Given the description of an element on the screen output the (x, y) to click on. 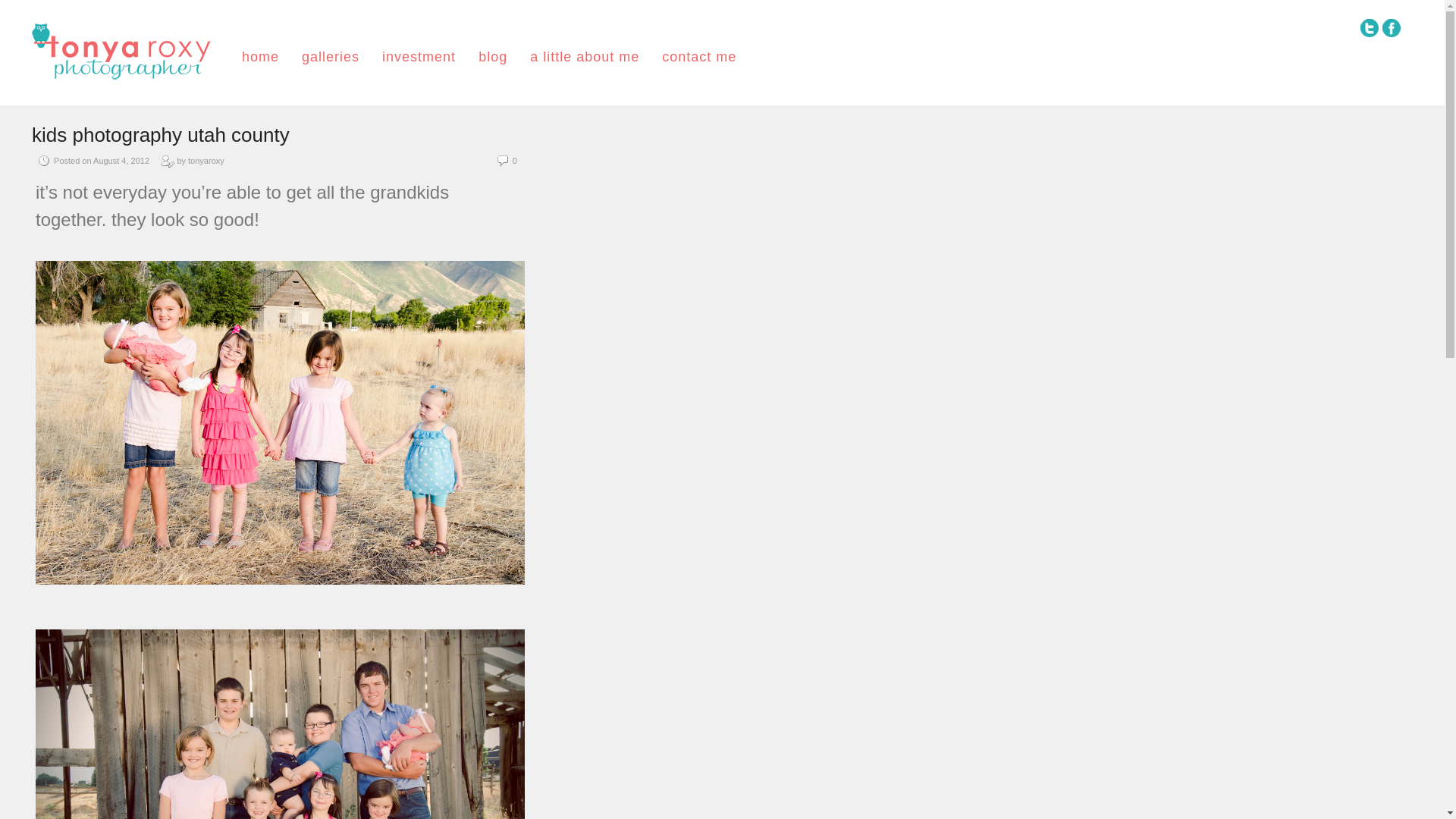
a little about me (584, 56)
galleries (330, 56)
investment (418, 56)
Kids Photography Utah County-5245 (279, 724)
contact me (699, 56)
blog (492, 56)
kids photography utah county (160, 134)
Kids Photography Utah County (160, 134)
home (260, 56)
